Given the description of an element on the screen output the (x, y) to click on. 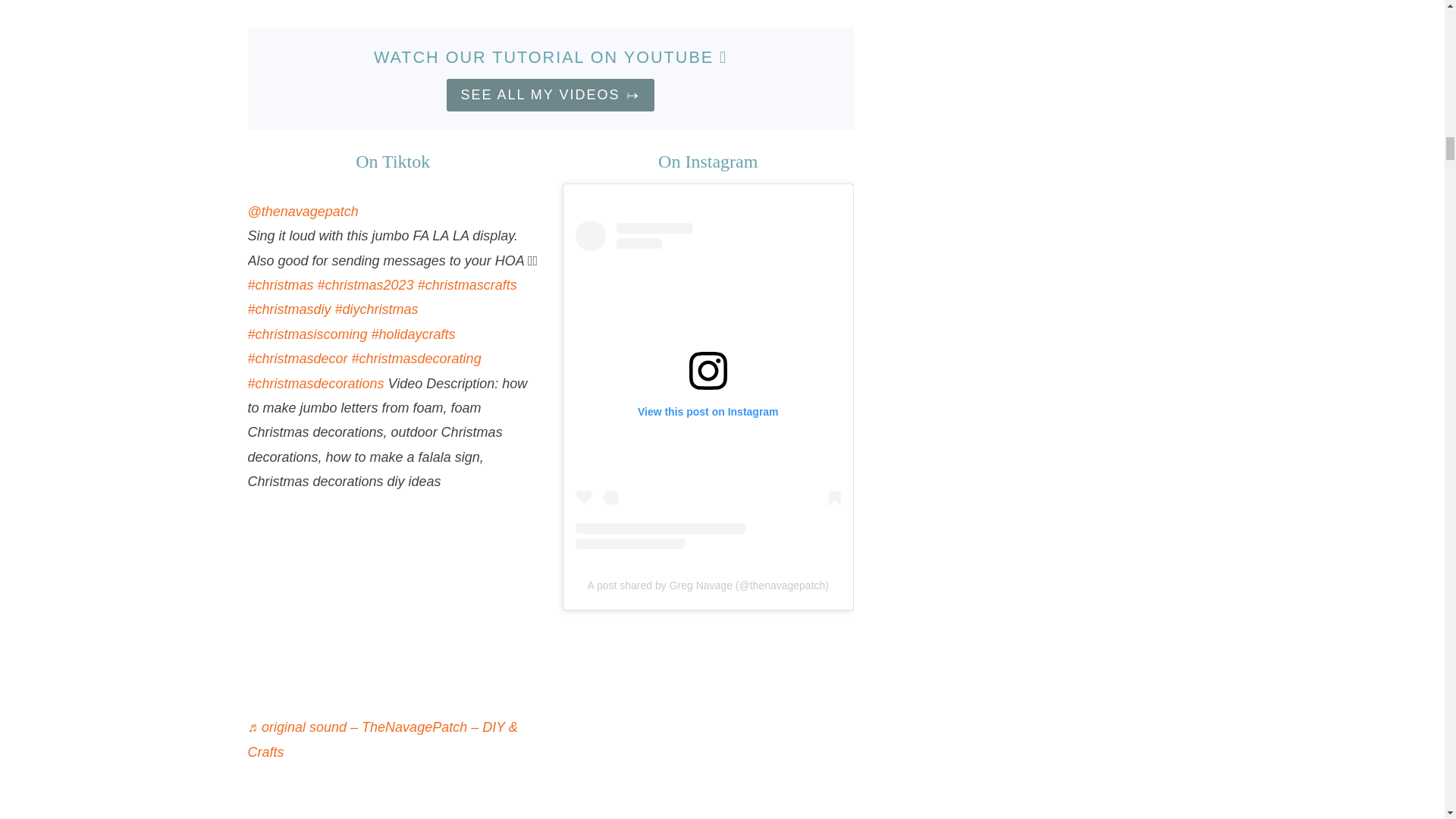
christmasdiy (288, 309)
diychristmas (376, 309)
christmas (280, 284)
christmascrafts (466, 284)
christmas2023 (365, 284)
